Given the description of an element on the screen output the (x, y) to click on. 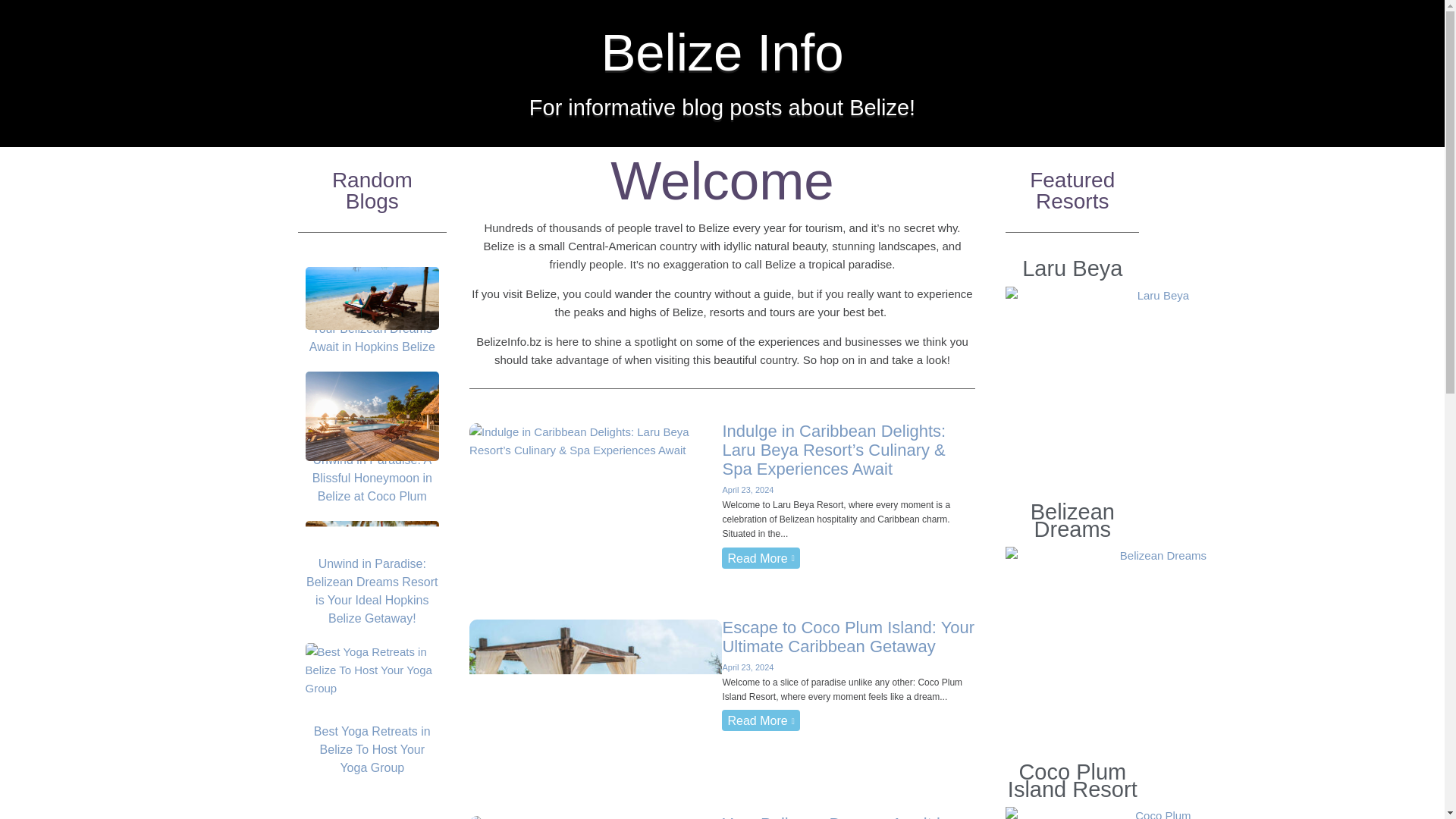
Read More (760, 720)
Escape to Coco Plum Island: Your Ultimate Caribbean Getaway (848, 637)
Your Belizean Dreams Await in Hopkins Belize (835, 816)
Best Yoga Retreats in Belize To Host Your Yoga Group (372, 749)
April 23, 2024 (747, 489)
April 23, 2024 (747, 666)
Read More (760, 557)
Your Belizean Dreams Await in Hopkins Belize (371, 347)
